Given the description of an element on the screen output the (x, y) to click on. 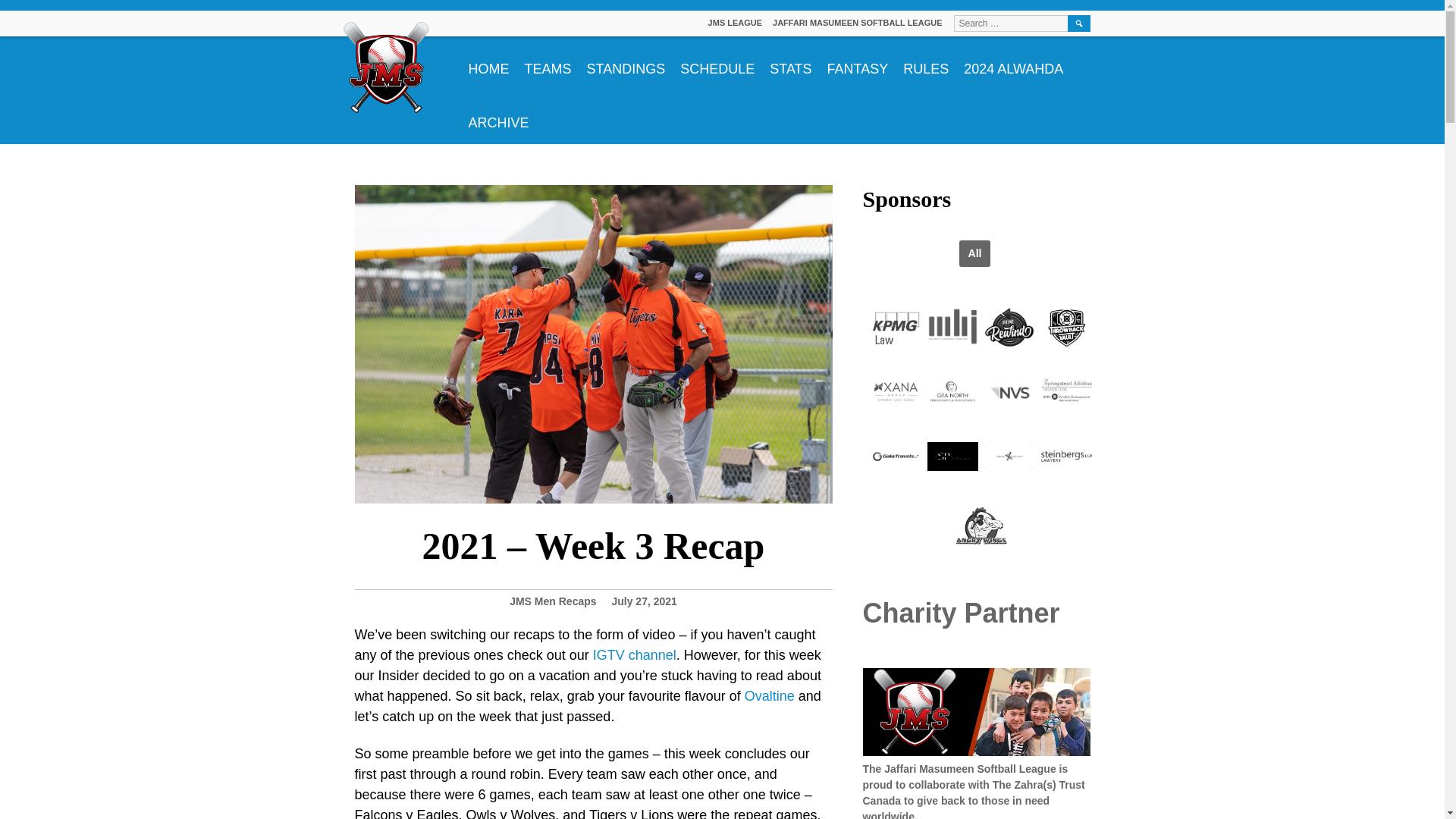
JMS Men (532, 601)
KPMG LAW (895, 327)
Xana (895, 392)
Recaps (577, 601)
ARCHIVE (499, 117)
Prime Rewind (1009, 327)
Search (1078, 23)
BMO Wealth Management (1066, 392)
JMS LEAGUE (734, 22)
SCHEDULE (716, 63)
2024 ALWAHDA (1013, 63)
Minhal Jaffer (952, 327)
RULES (925, 63)
Home (488, 63)
Gala Travels (895, 456)
